Given the description of an element on the screen output the (x, y) to click on. 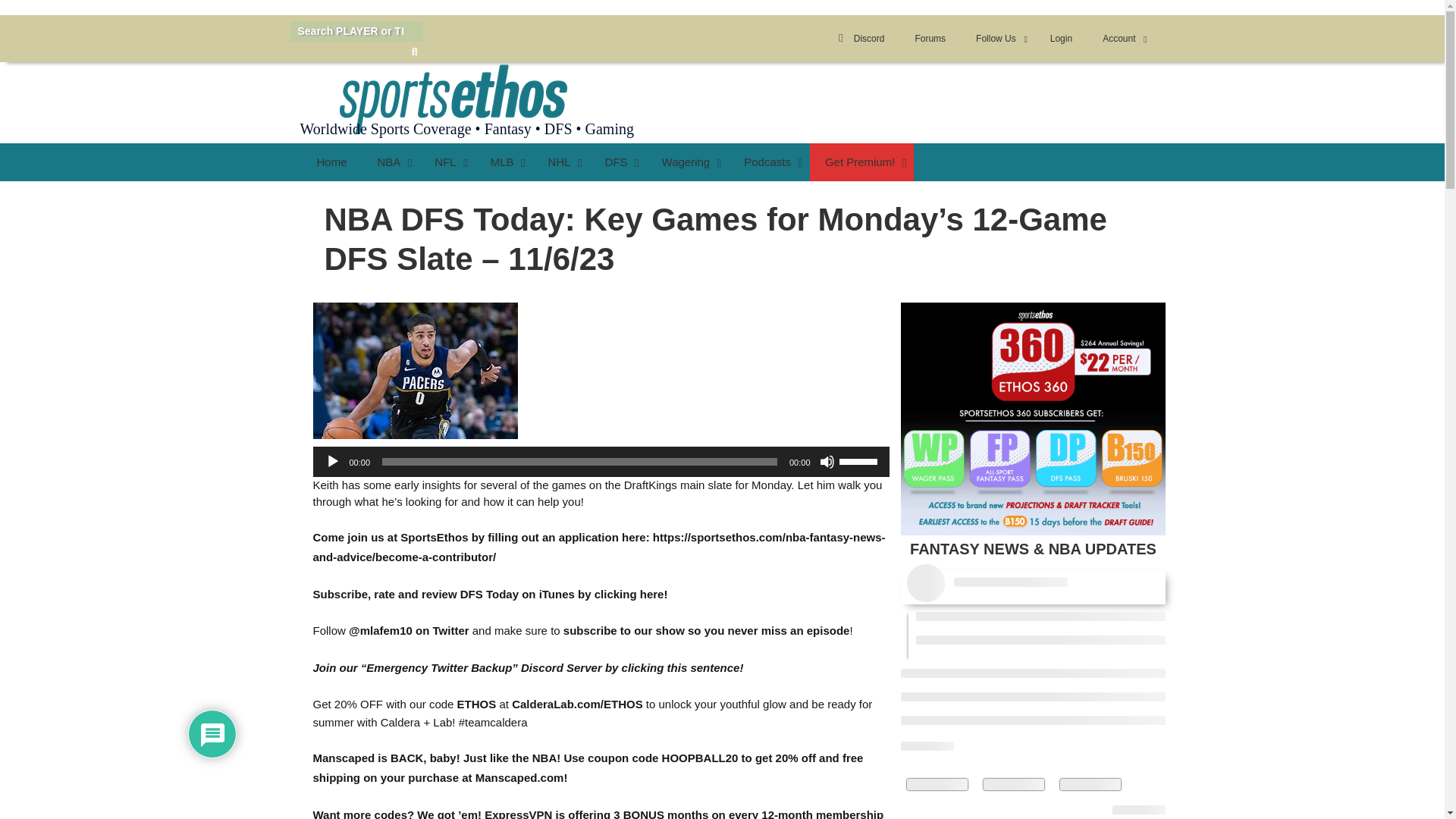
Discord (858, 38)
Mute (826, 461)
Login (1061, 39)
Forums (929, 39)
Search (986, 38)
Home (721, 161)
Play (414, 51)
